Given the description of an element on the screen output the (x, y) to click on. 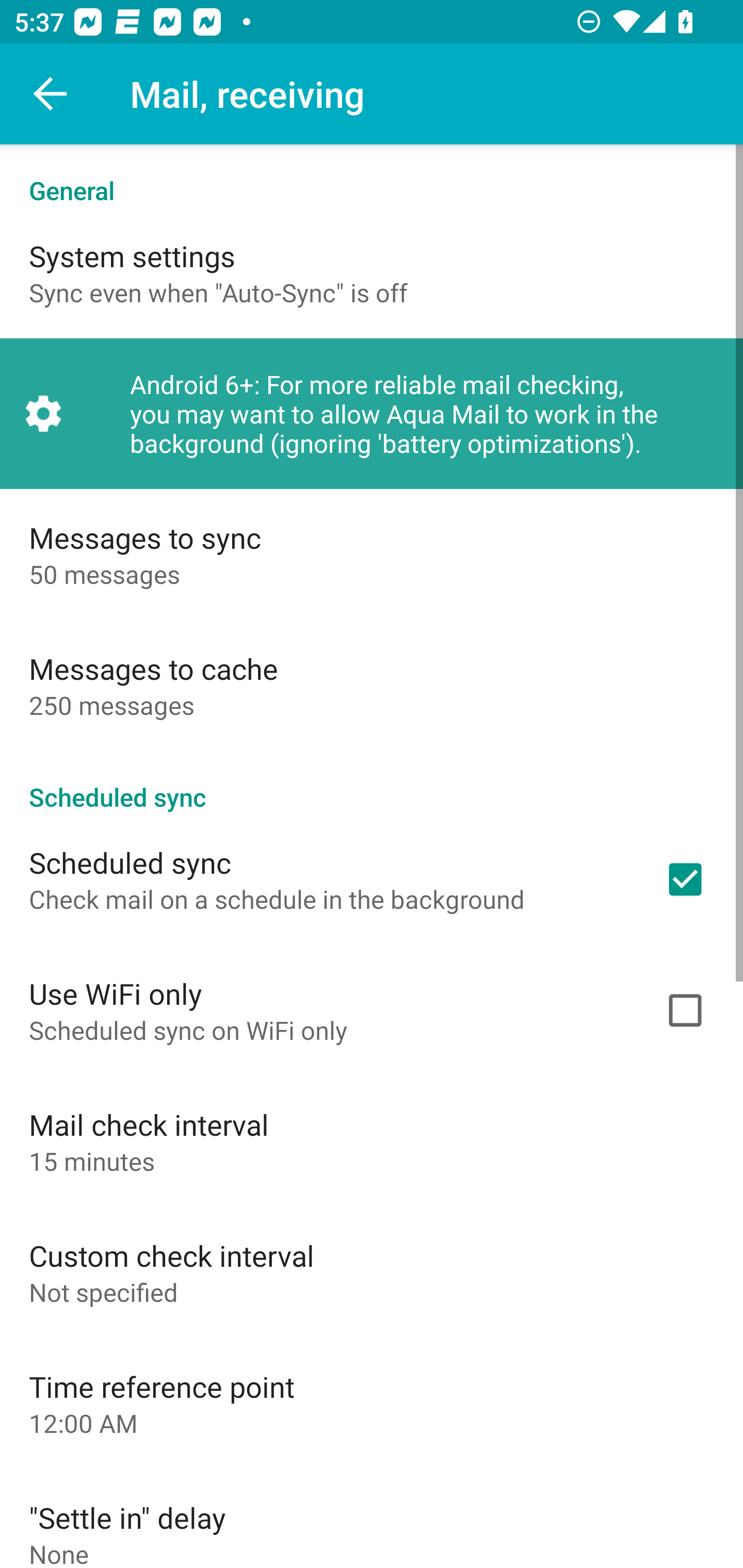
Navigate up (50, 93)
System settings Sync even when "Auto-Sync" is off (371, 272)
Messages to sync 50 messages (371, 554)
Messages to cache 250 messages (371, 685)
Use WiFi only Scheduled sync on WiFi only (371, 1010)
Mail check interval 15 minutes (371, 1141)
Custom check interval Not specified (371, 1272)
Time reference point 12:00 AM (371, 1403)
"Settle in" delay None (371, 1518)
